Given the description of an element on the screen output the (x, y) to click on. 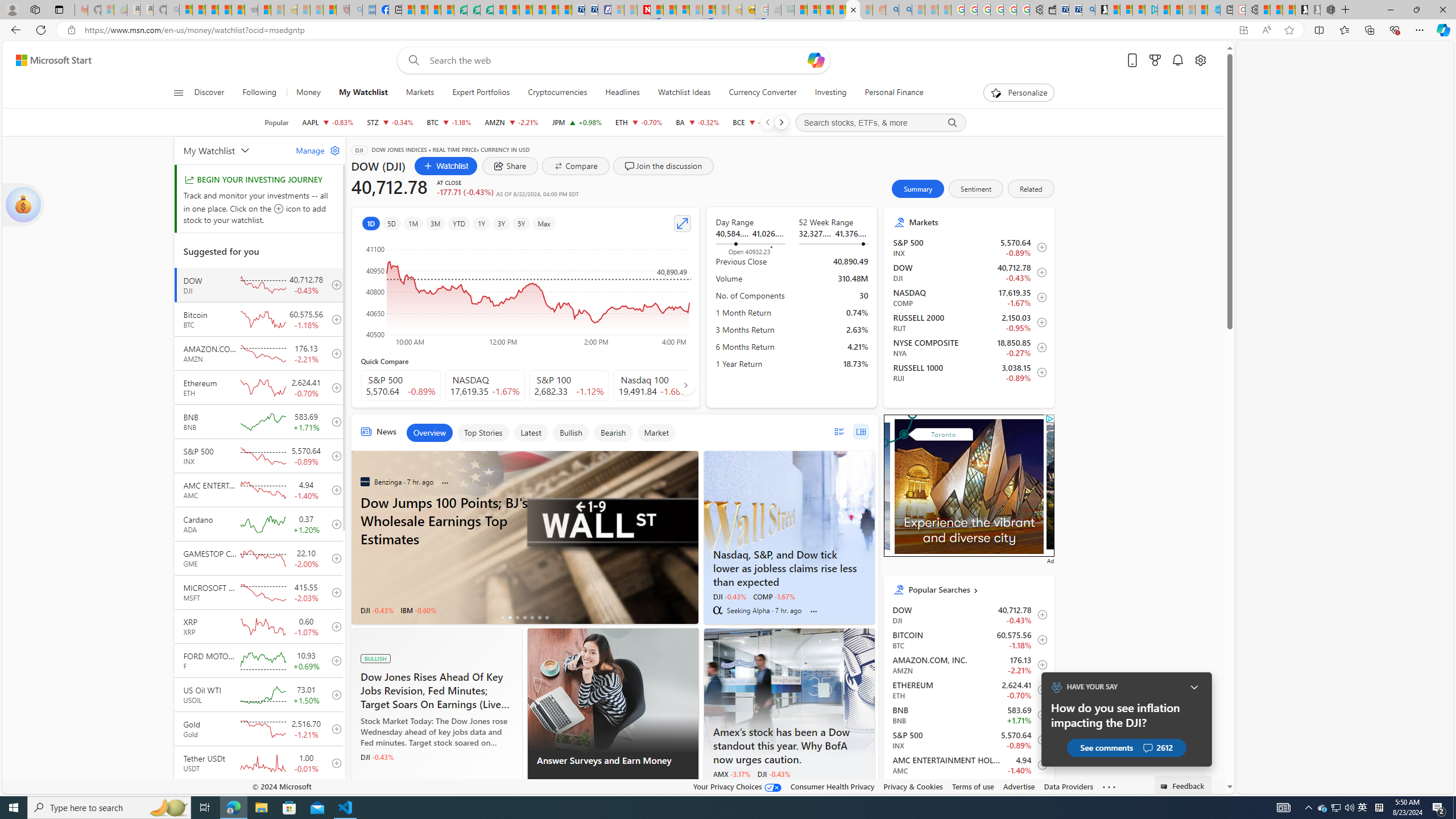
LendingTree - Compare Lenders (460, 9)
AutomationID: finance_carousel_navi_arrow (685, 385)
Headlines (622, 92)
Class: oneFooter_seeMore-DS-EntryPoint1-1 (1108, 786)
Class: recharts-surface (526, 292)
AdChoices (689, 789)
